Given the description of an element on the screen output the (x, y) to click on. 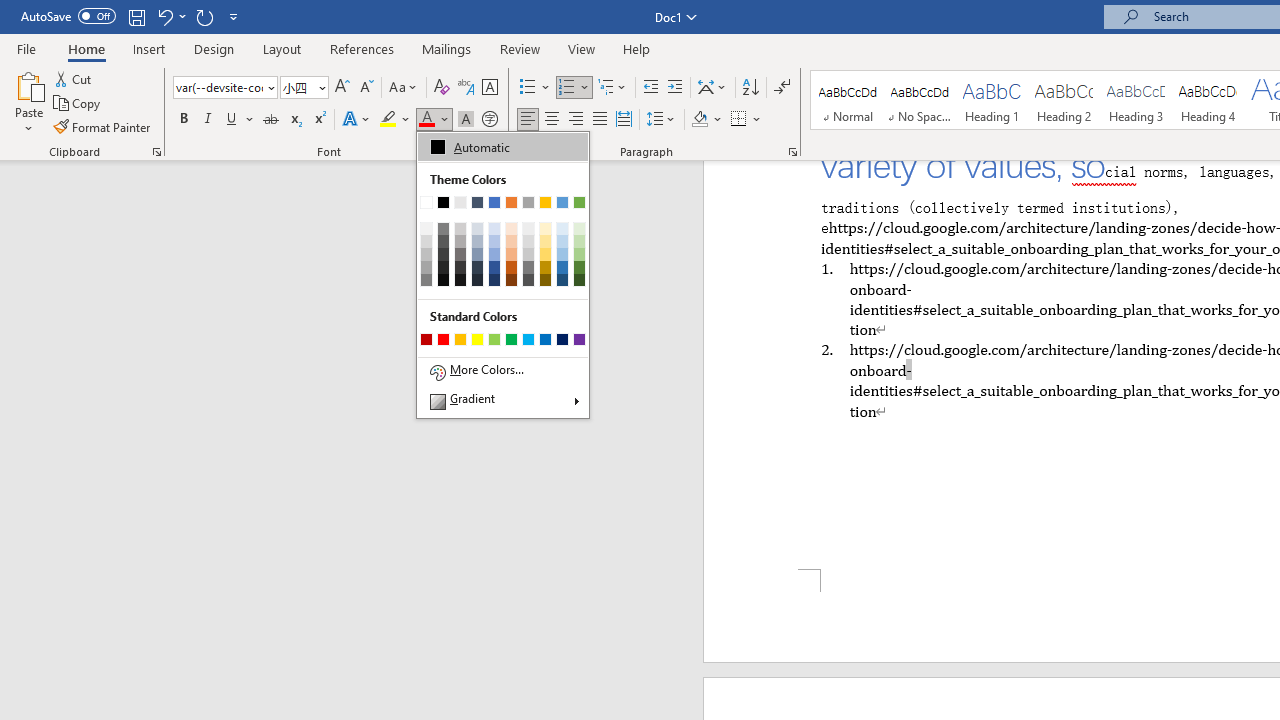
Undo Paragraph Alignment (170, 15)
